Given the description of an element on the screen output the (x, y) to click on. 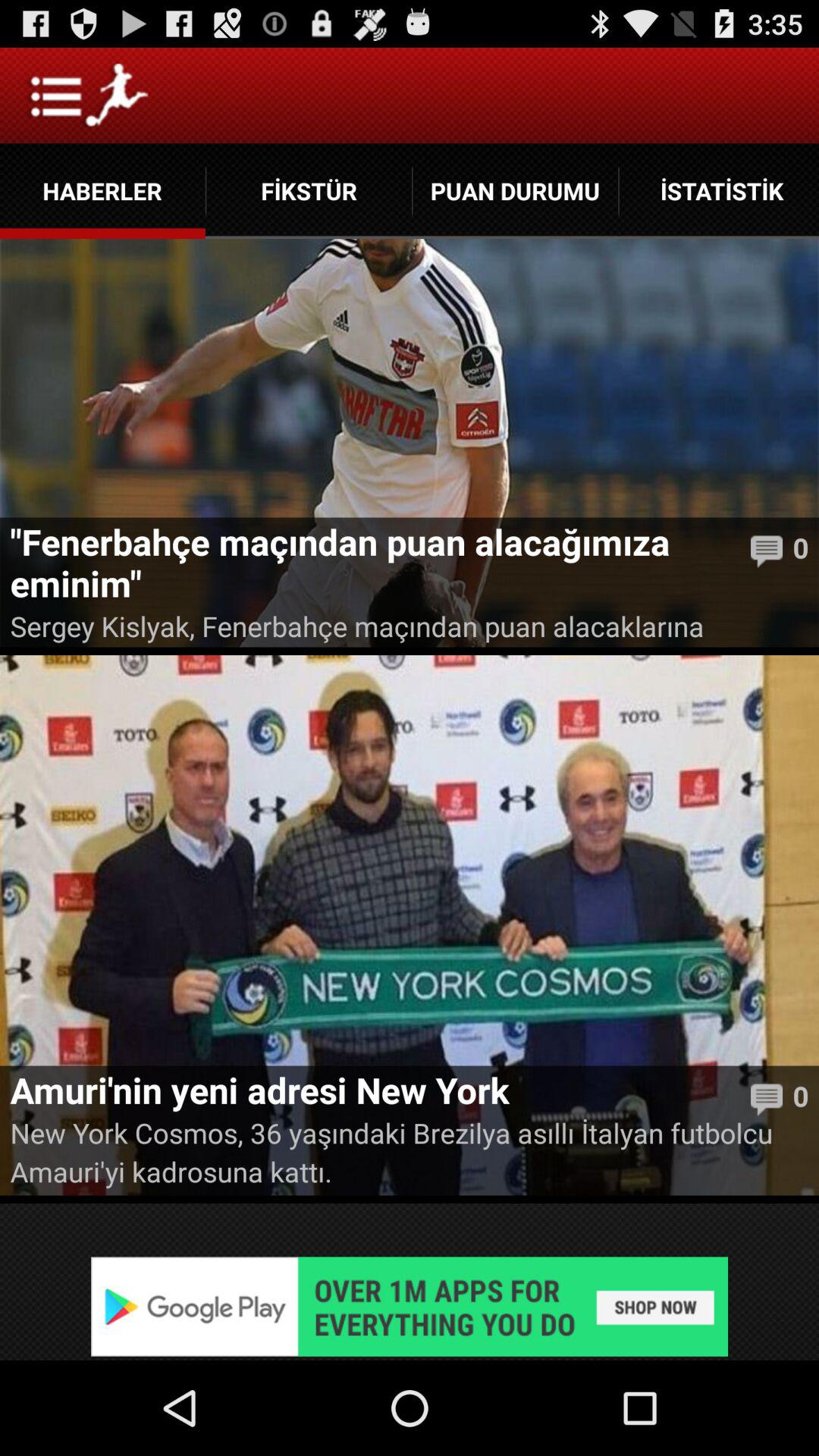
click on advertisement (409, 1306)
